Given the description of an element on the screen output the (x, y) to click on. 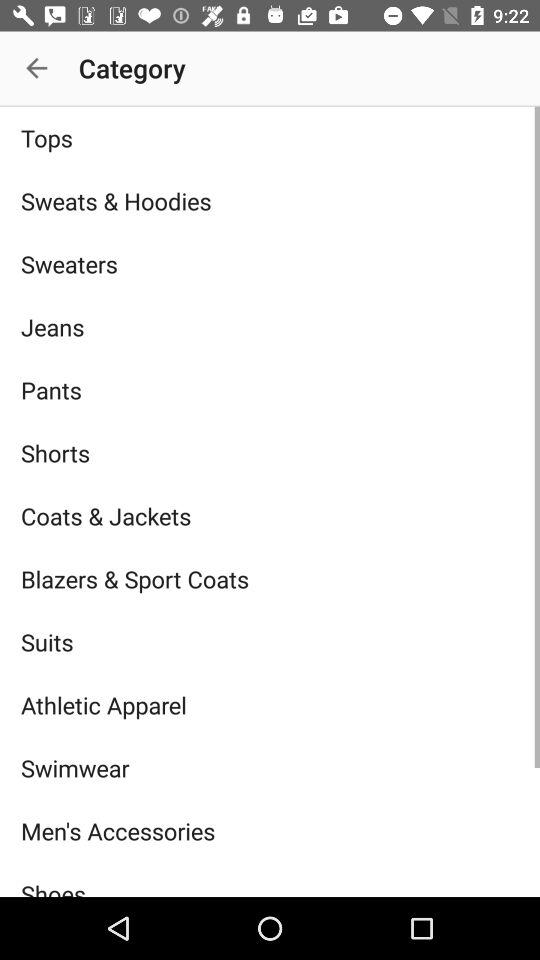
press icon below the athletic apparel (270, 767)
